Given the description of an element on the screen output the (x, y) to click on. 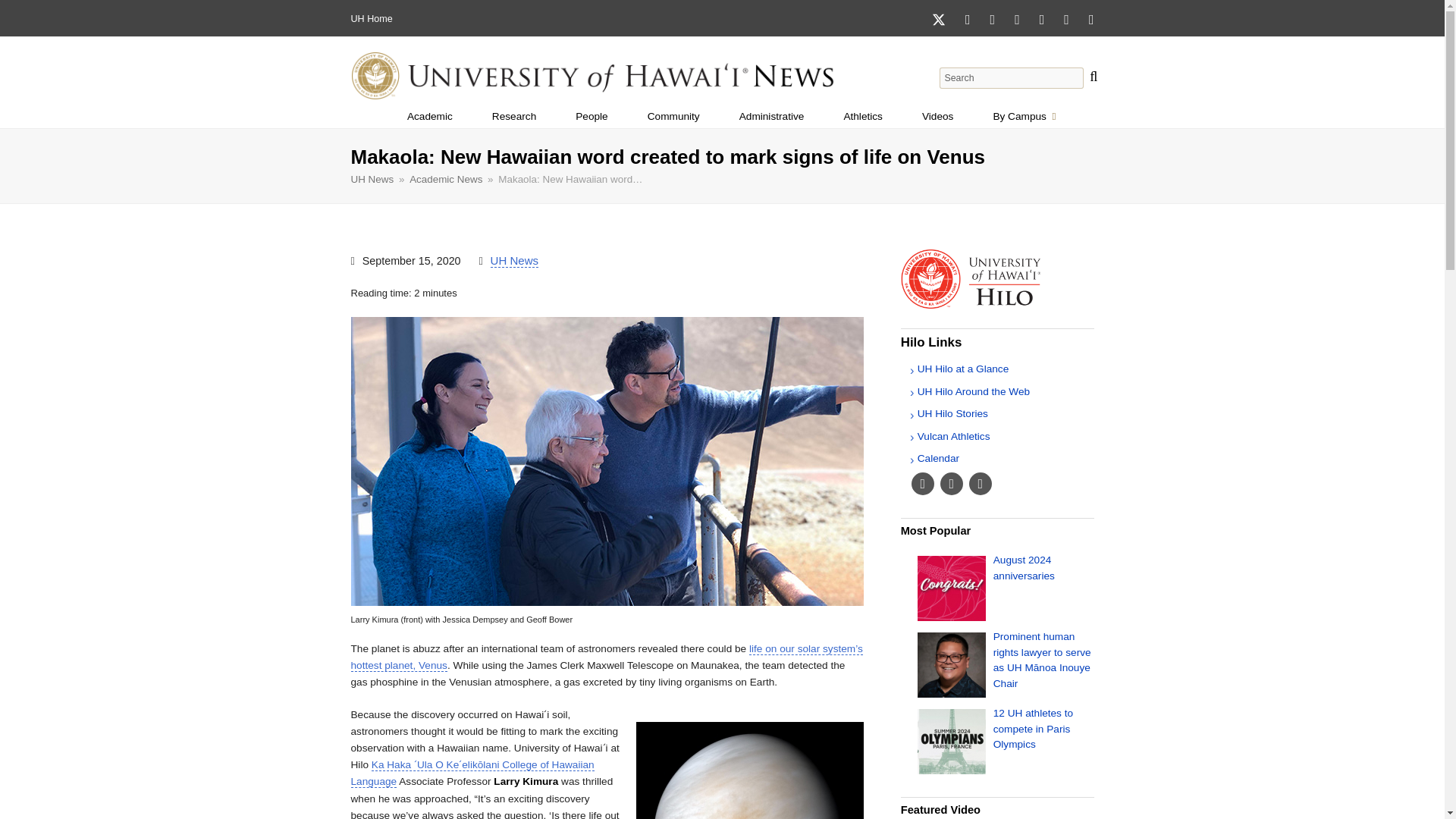
UH News (371, 179)
People (591, 116)
Videos (937, 116)
Research (513, 116)
Go to UH Hilo (997, 305)
Academic (429, 116)
University of Hawaii (357, 18)
UH Home (370, 18)
Athletics (863, 116)
Posts by UH News (514, 260)
